Given the description of an element on the screen output the (x, y) to click on. 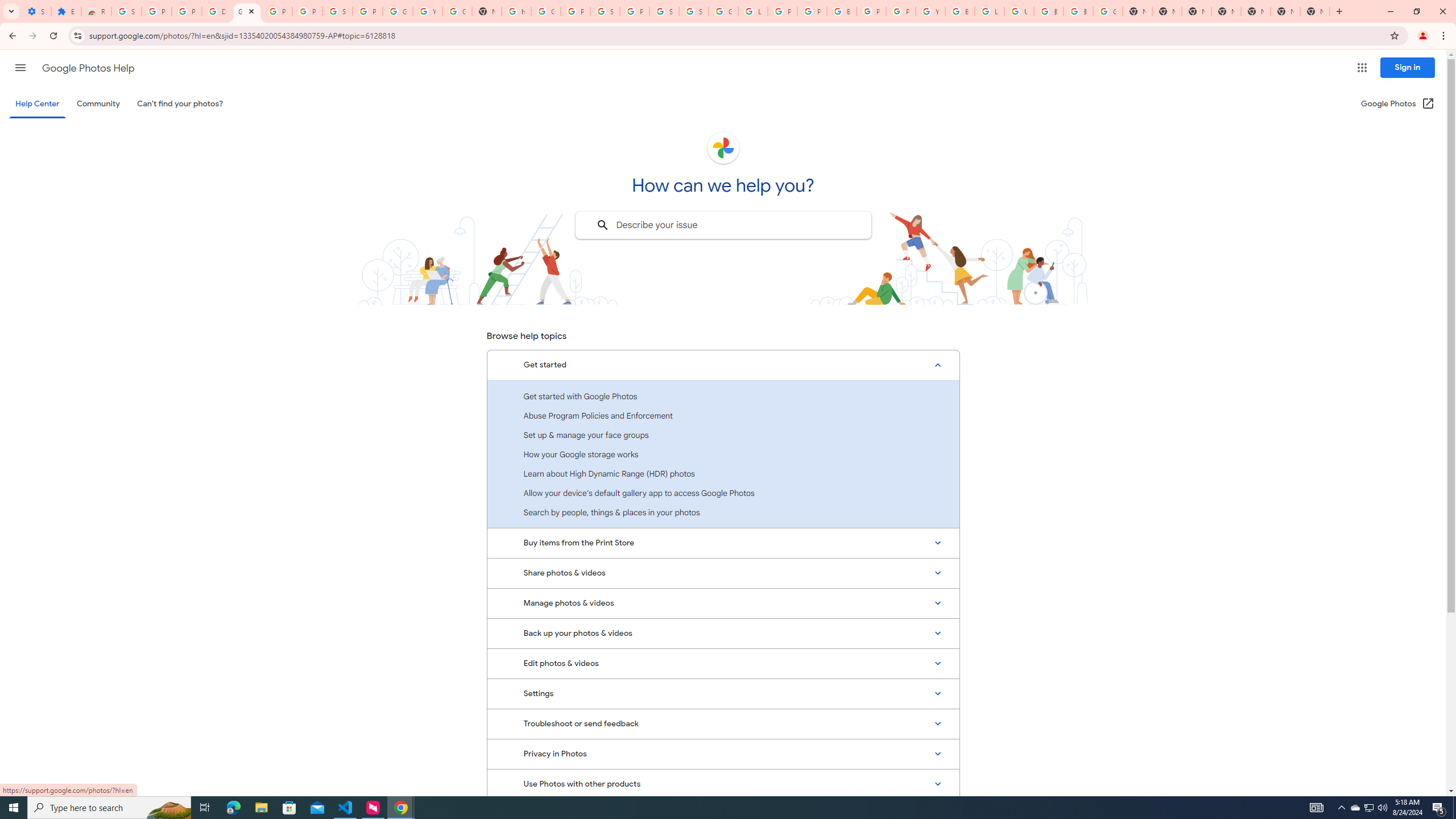
https://scholar.google.com/ (515, 11)
Edit photos & videos (722, 663)
Troubleshoot or send feedback (722, 723)
